Given the description of an element on the screen output the (x, y) to click on. 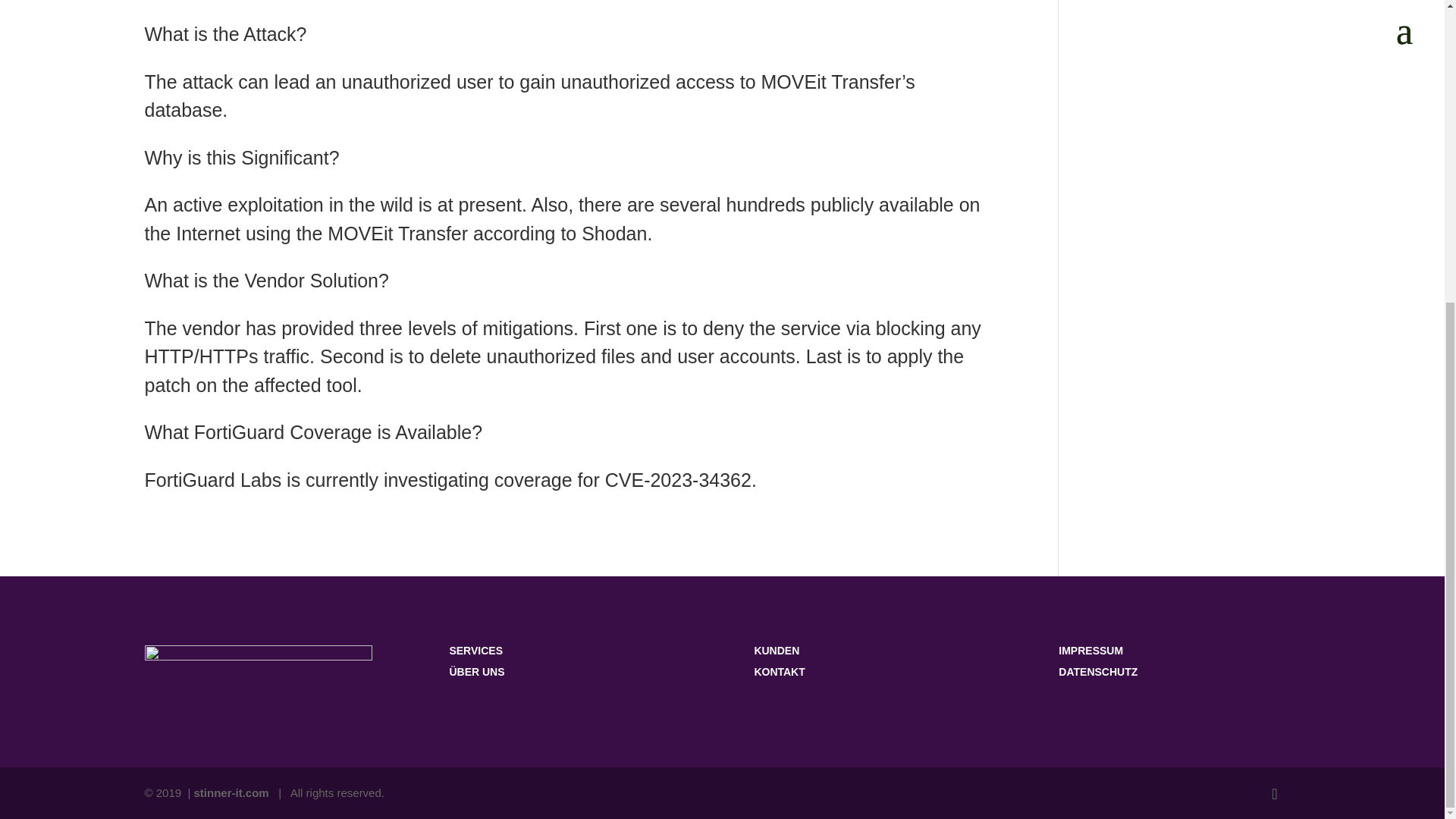
stinner-it.com (231, 792)
DATENSCHUTZ (1097, 671)
KONTAKT (779, 671)
SERVICES (475, 650)
IMPRESSUM (1090, 650)
KUNDEN (776, 650)
